Given the description of an element on the screen output the (x, y) to click on. 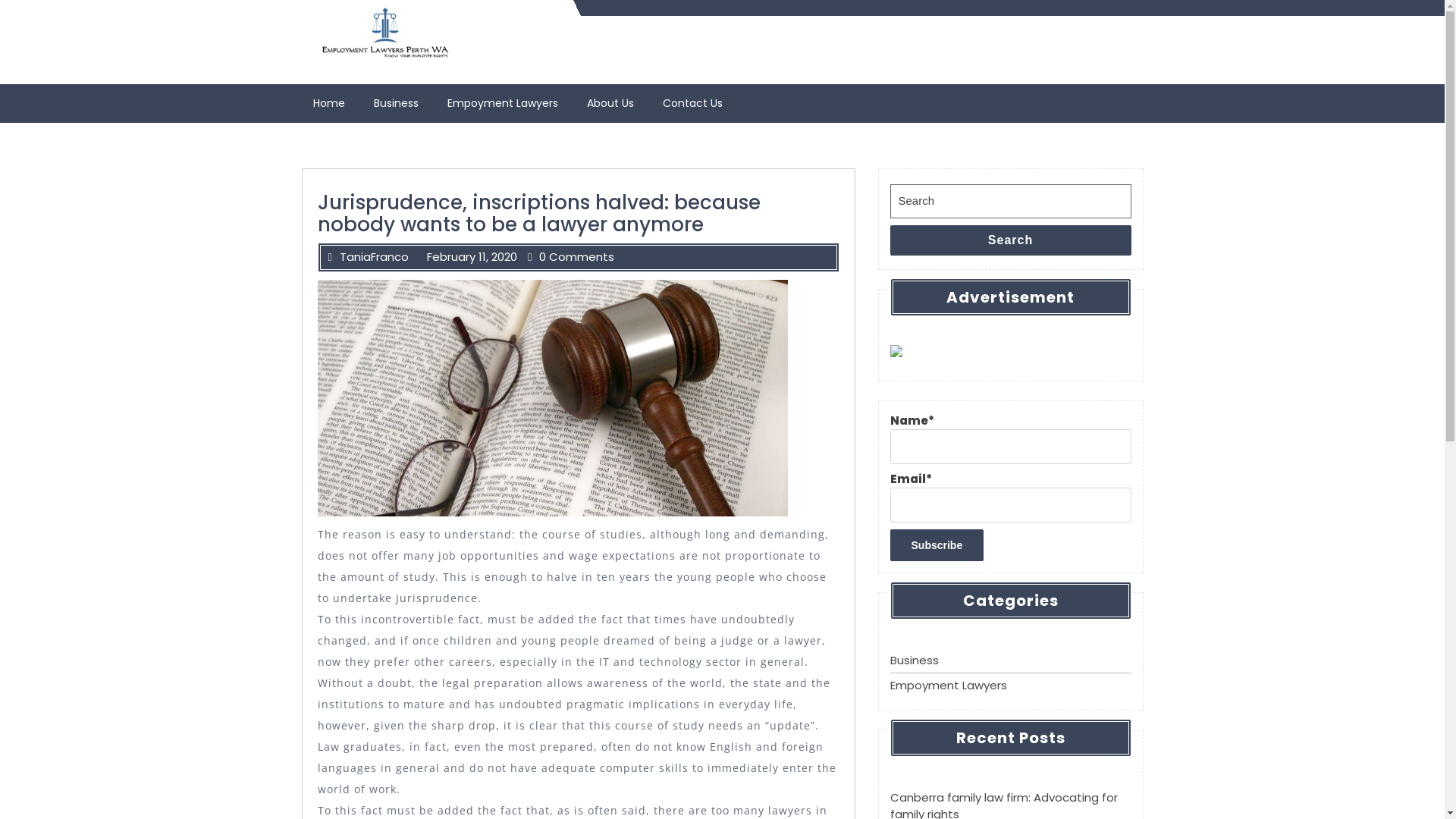
Business Element type: text (397, 103)
About Us Element type: text (611, 103)
Search Element type: text (1010, 239)
Empoyment Lawyers Element type: text (948, 685)
Home Element type: text (330, 103)
Business Element type: text (914, 660)
Empoyment Lawyers Element type: text (503, 103)
Subscribe Element type: text (937, 545)
Contact Us Element type: text (693, 103)
